Given the description of an element on the screen output the (x, y) to click on. 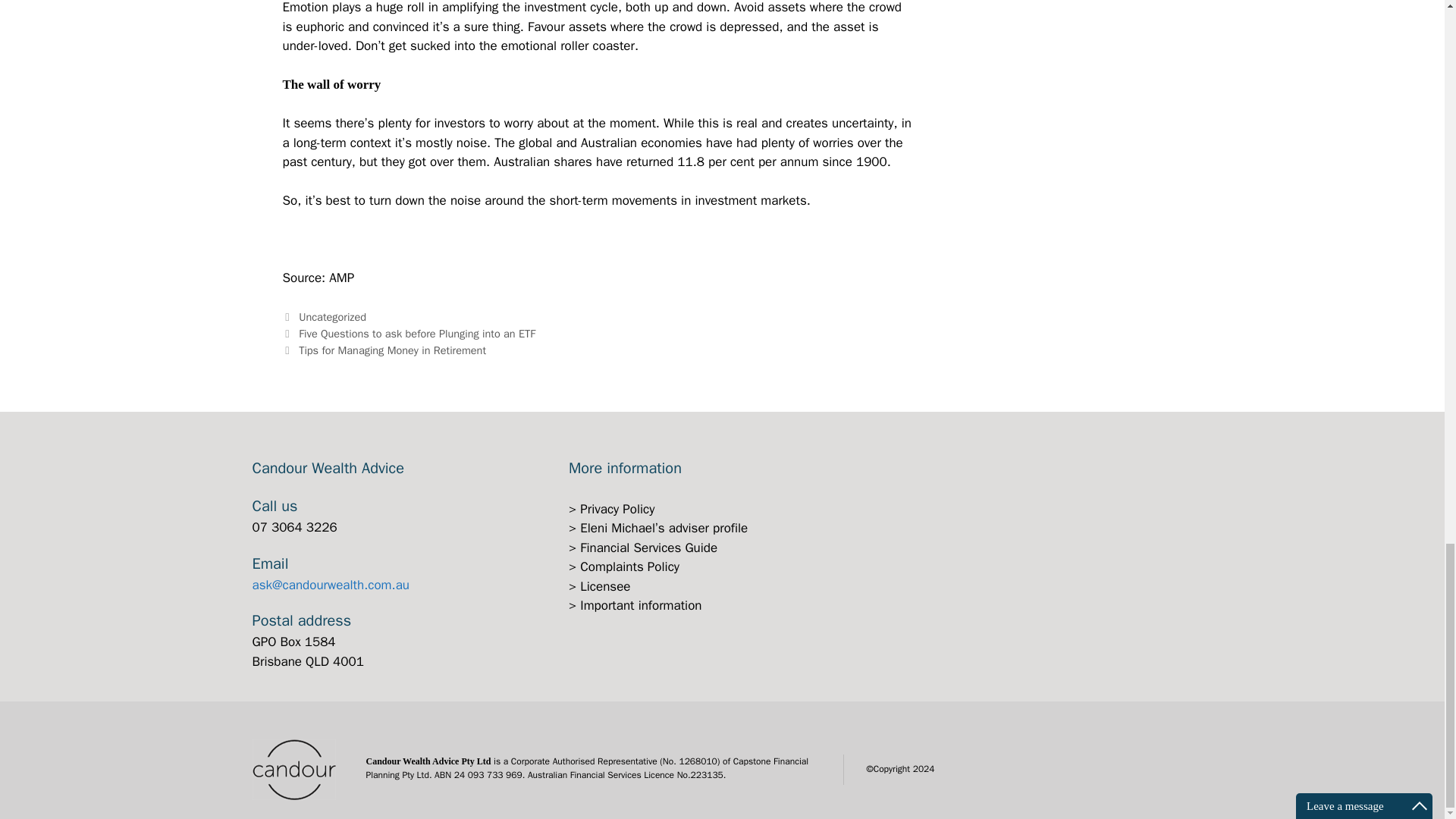
Uncategorized (332, 316)
Tips for Managing Money in Retirement (392, 350)
Five Questions to ask before Plunging into an ETF (416, 333)
